Given the description of an element on the screen output the (x, y) to click on. 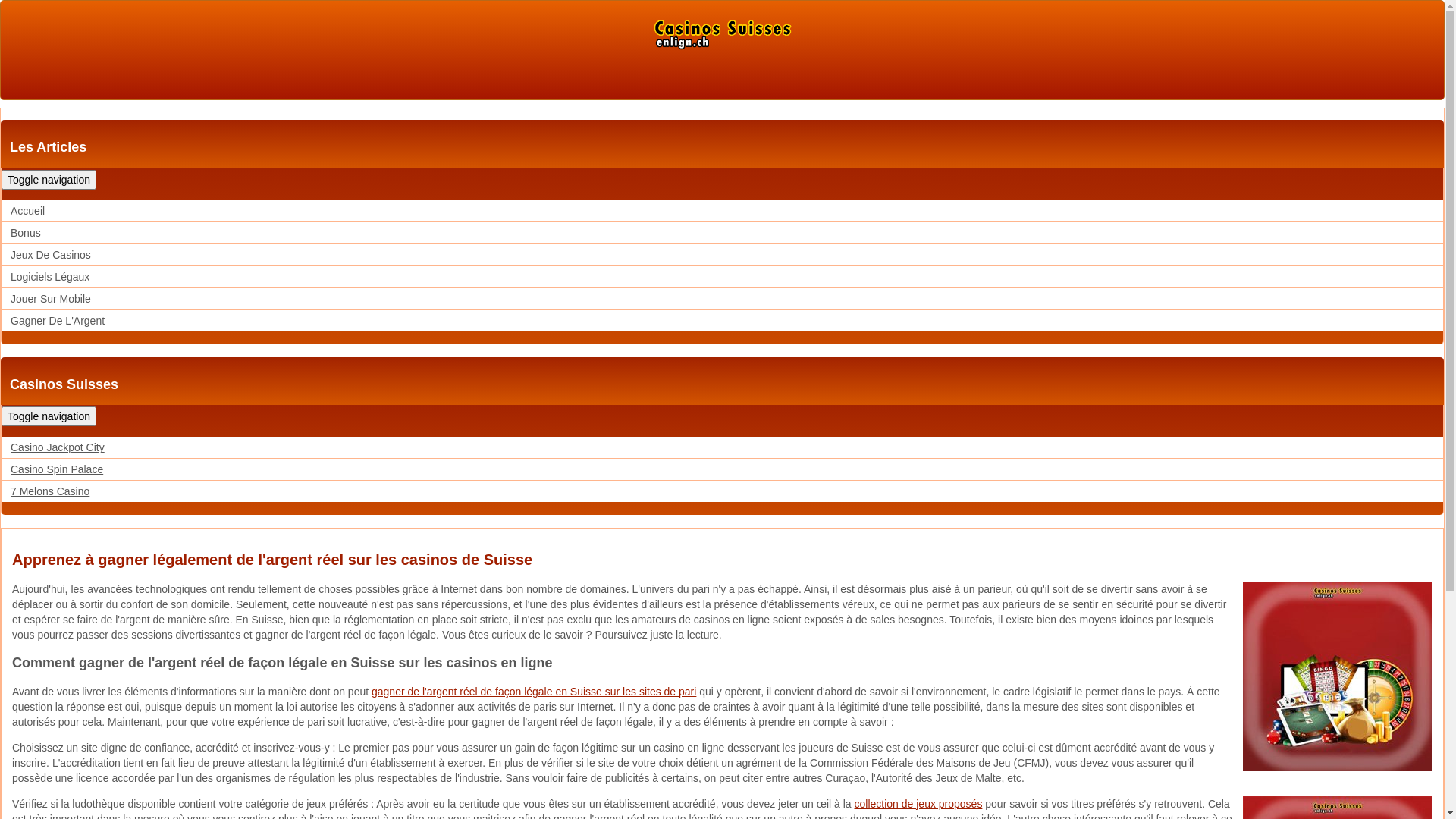
Accueil Element type: text (27, 210)
Toggle navigation Element type: text (48, 416)
Gagner De L'Argent Element type: text (57, 320)
Jeux De Casinos Element type: text (50, 254)
Jouer Sur Mobile Element type: text (50, 298)
Bonus Element type: text (25, 232)
Casino Jackpot City Element type: text (57, 447)
Toggle navigation Element type: text (48, 179)
Casino Spin Palace Element type: text (56, 469)
7 Melons Casino Element type: text (49, 491)
